Given the description of an element on the screen output the (x, y) to click on. 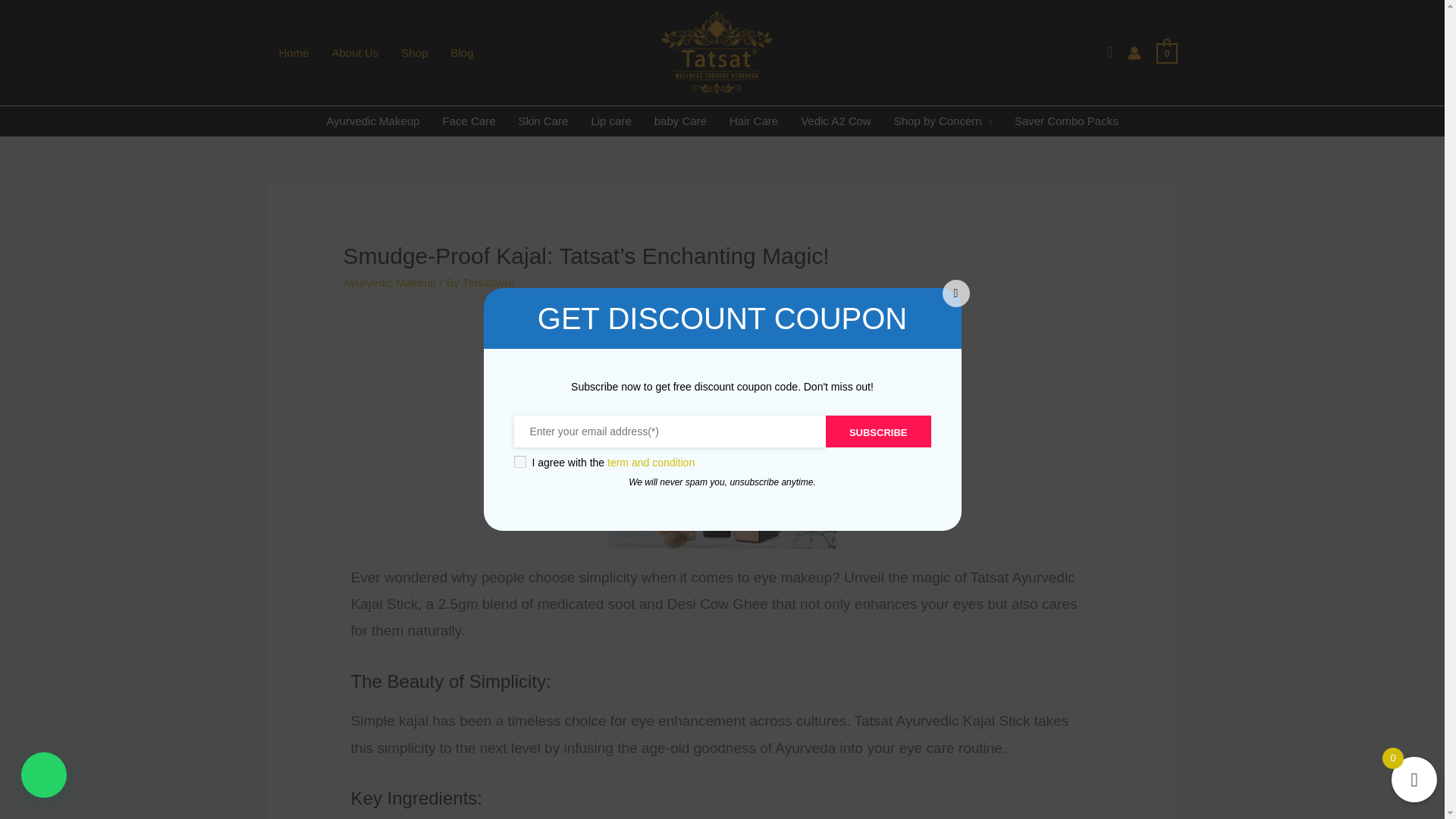
Skin Care (542, 121)
Shop by Concern (942, 121)
Hair Care (753, 121)
About Us (355, 51)
Saver Combo Packs (1066, 121)
Shop (414, 51)
View all posts by Tatsatayur (489, 282)
on (519, 461)
Ayurvedic Makeup (372, 121)
Home (293, 51)
Face Care (468, 121)
baby Care (680, 121)
0 (1166, 51)
View your shopping cart (1166, 51)
Lip care (610, 121)
